Given the description of an element on the screen output the (x, y) to click on. 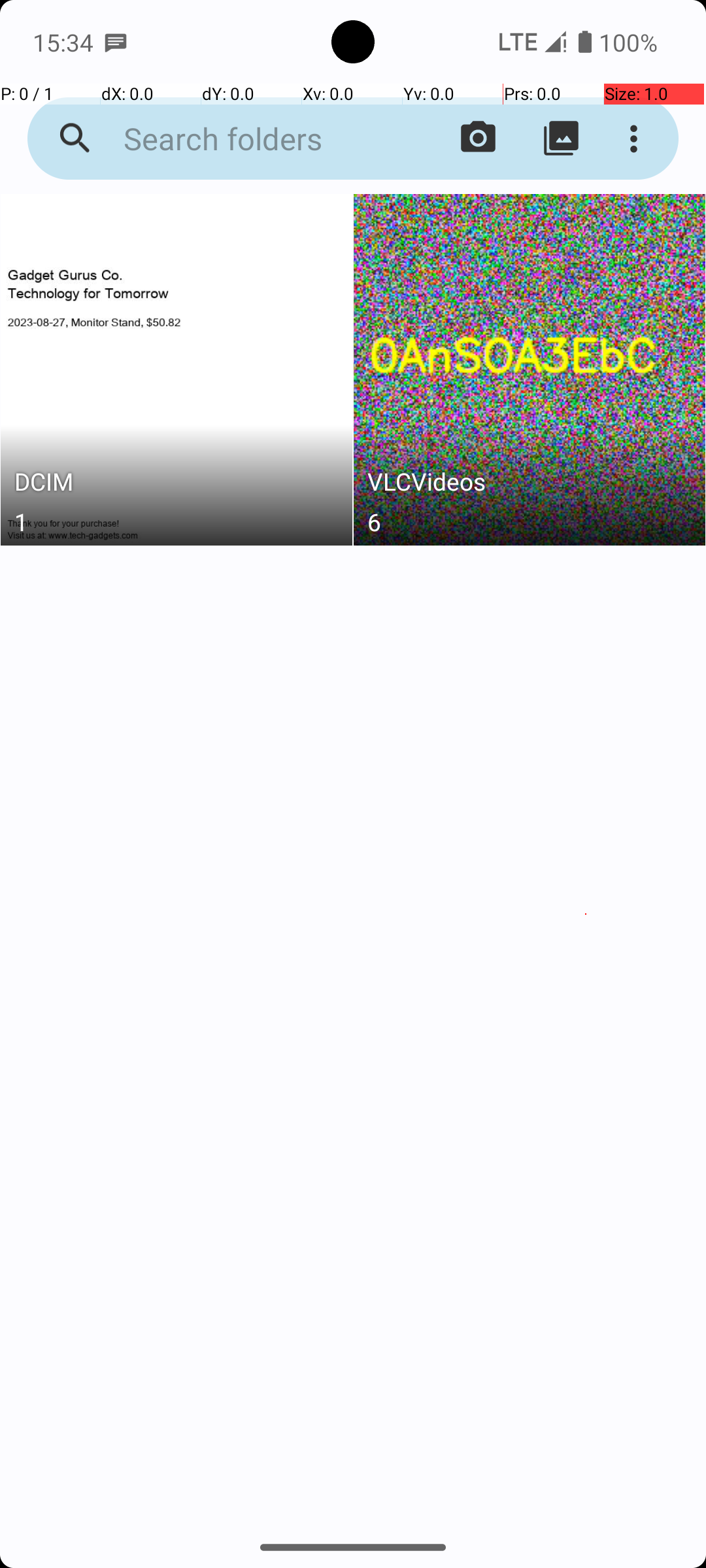
VLCVideos Element type: android.widget.TextView (529, 484)
